Given the description of an element on the screen output the (x, y) to click on. 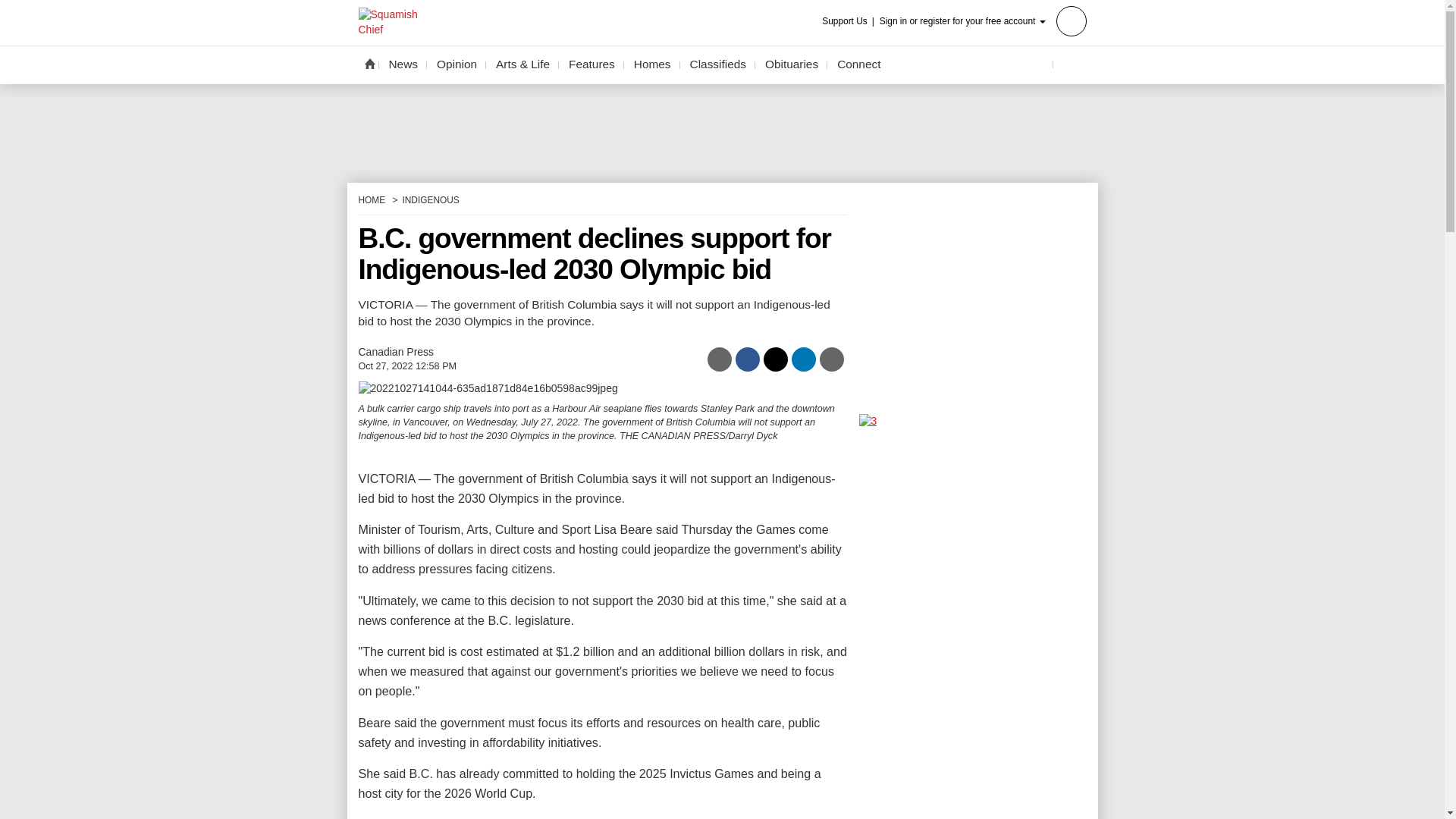
Home (368, 63)
Opinion (456, 64)
News (403, 64)
Support Us (849, 21)
Sign in or register for your free account (982, 20)
